Given the description of an element on the screen output the (x, y) to click on. 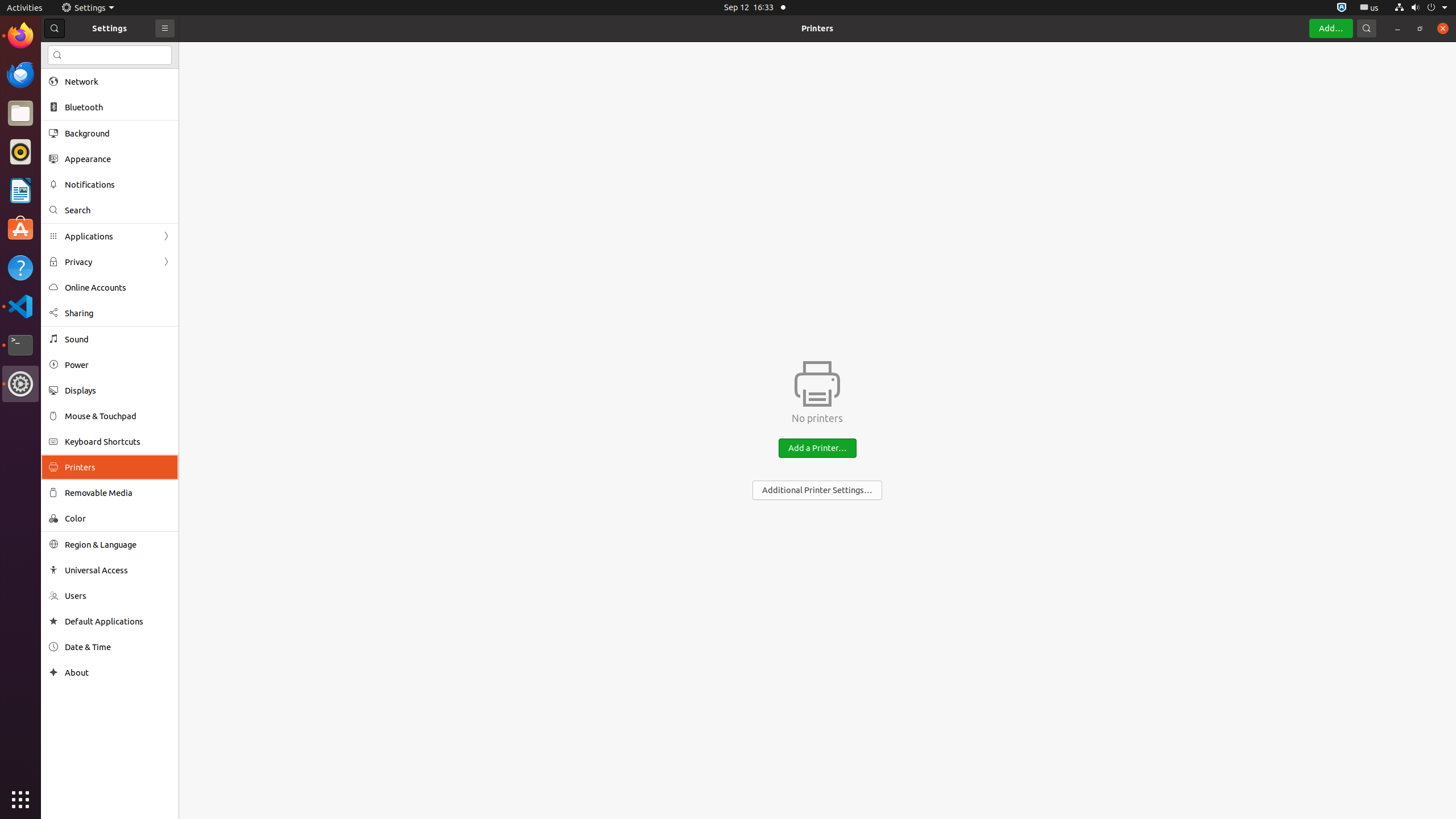
Trash Element type: label (75, 108)
Bluetooth Element type: label (117, 107)
About Element type: icon (53, 672)
Background Element type: label (117, 133)
Restore Element type: push-button (1419, 27)
